Given the description of an element on the screen output the (x, y) to click on. 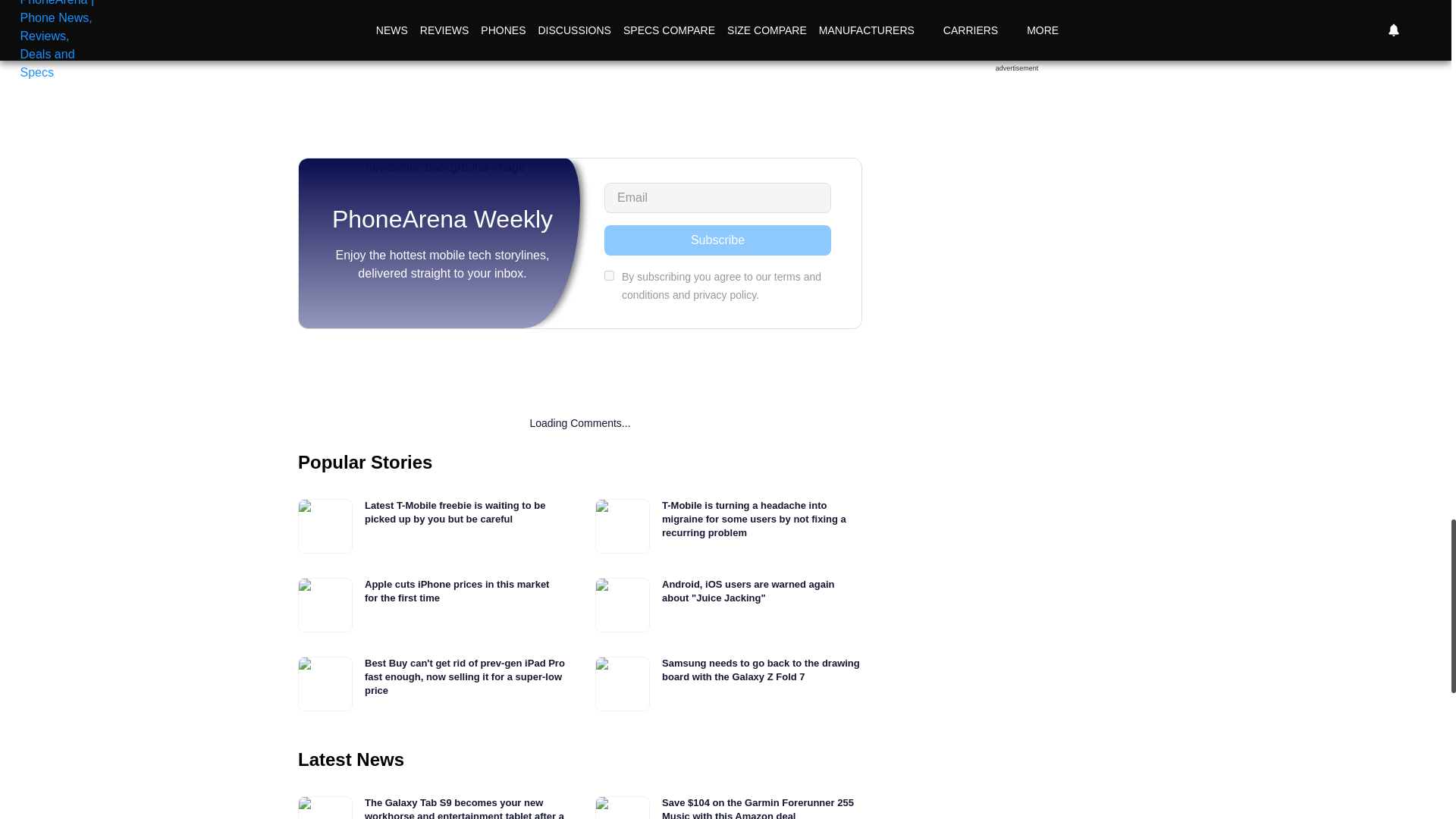
on (609, 275)
